Given the description of an element on the screen output the (x, y) to click on. 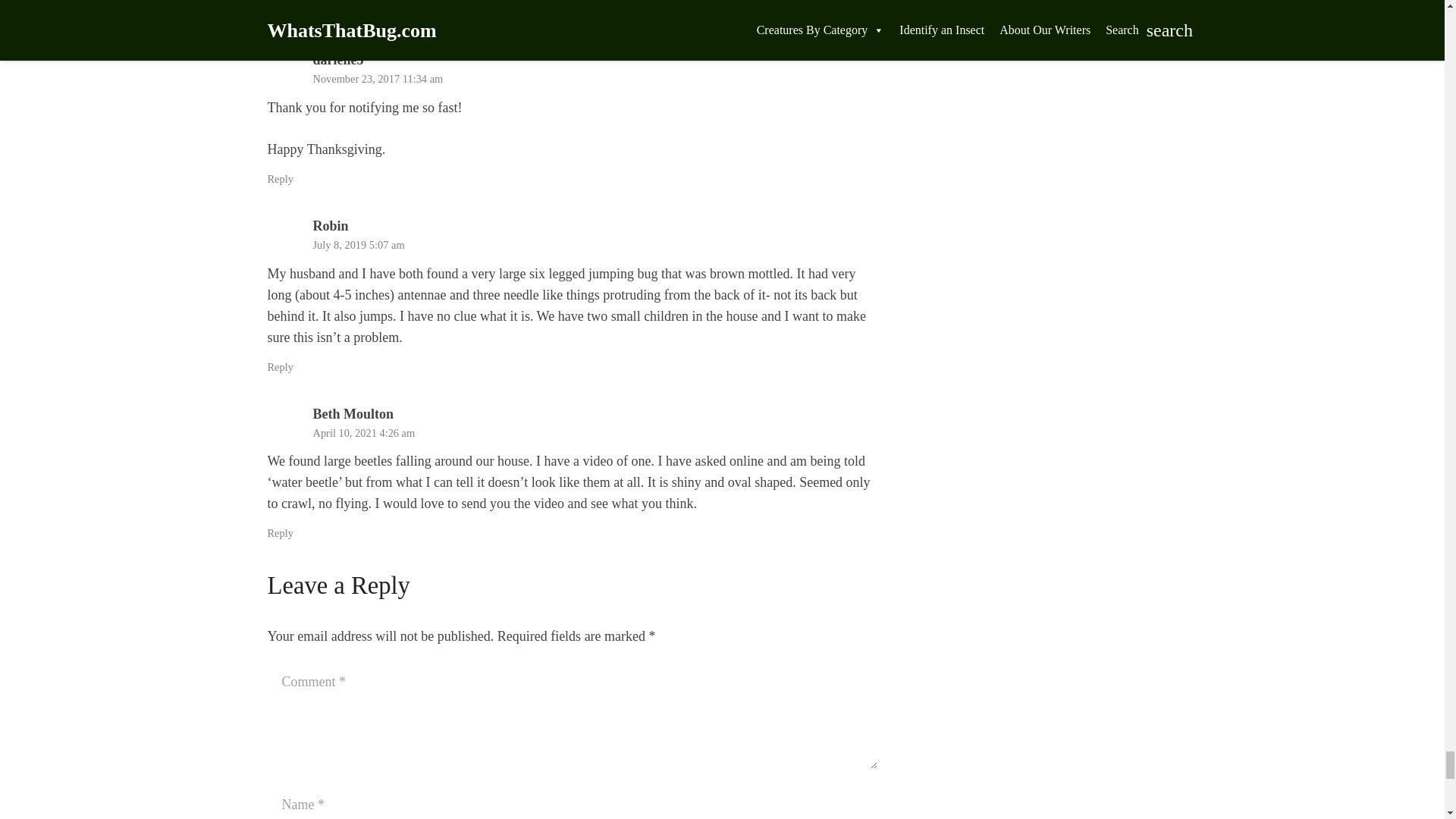
April 10, 2021 4:26 am (363, 432)
November 23, 2017 11:34 am (377, 78)
July 8, 2019 5:07 am (358, 244)
